Given the description of an element on the screen output the (x, y) to click on. 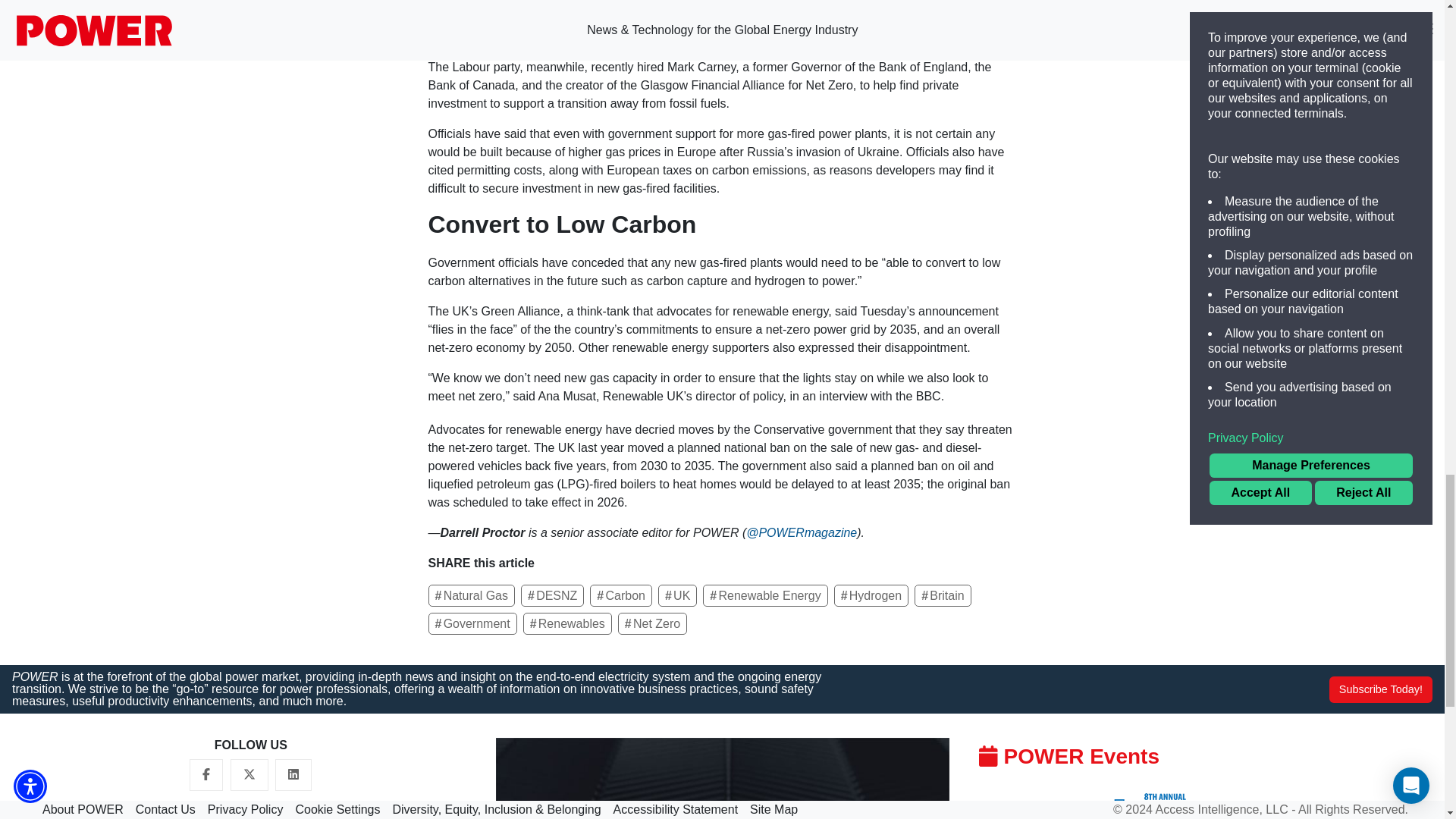
3rd party ad content (1181, 171)
